Given the description of an element on the screen output the (x, y) to click on. 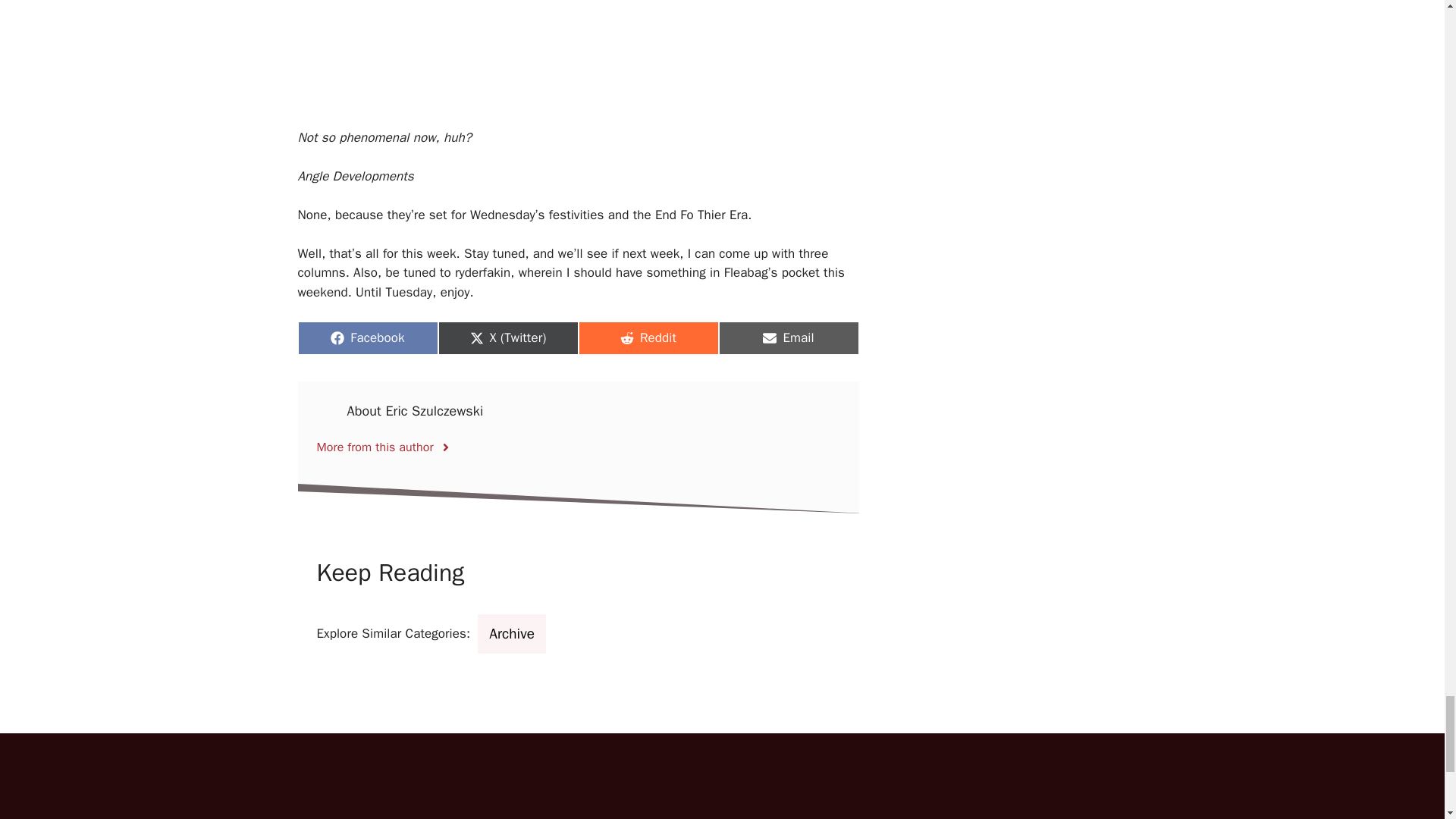
Inside Pulse Reverse Logo A (407, 804)
Woman with phone pop art style vector (936, 804)
More from this author (647, 337)
